Given the description of an element on the screen output the (x, y) to click on. 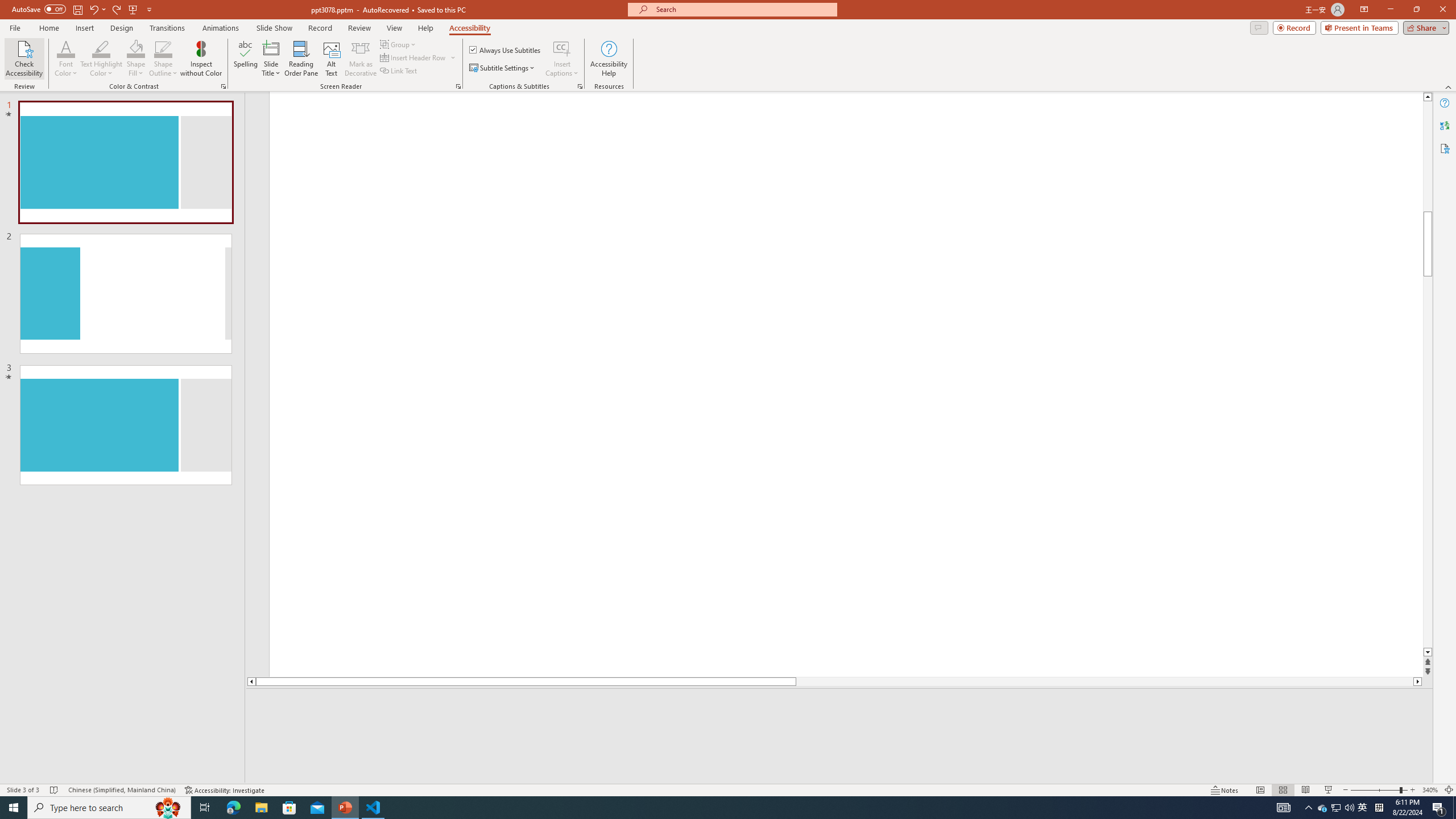
Color & Contrast (223, 85)
Zoom 340% (1430, 790)
